Given the description of an element on the screen output the (x, y) to click on. 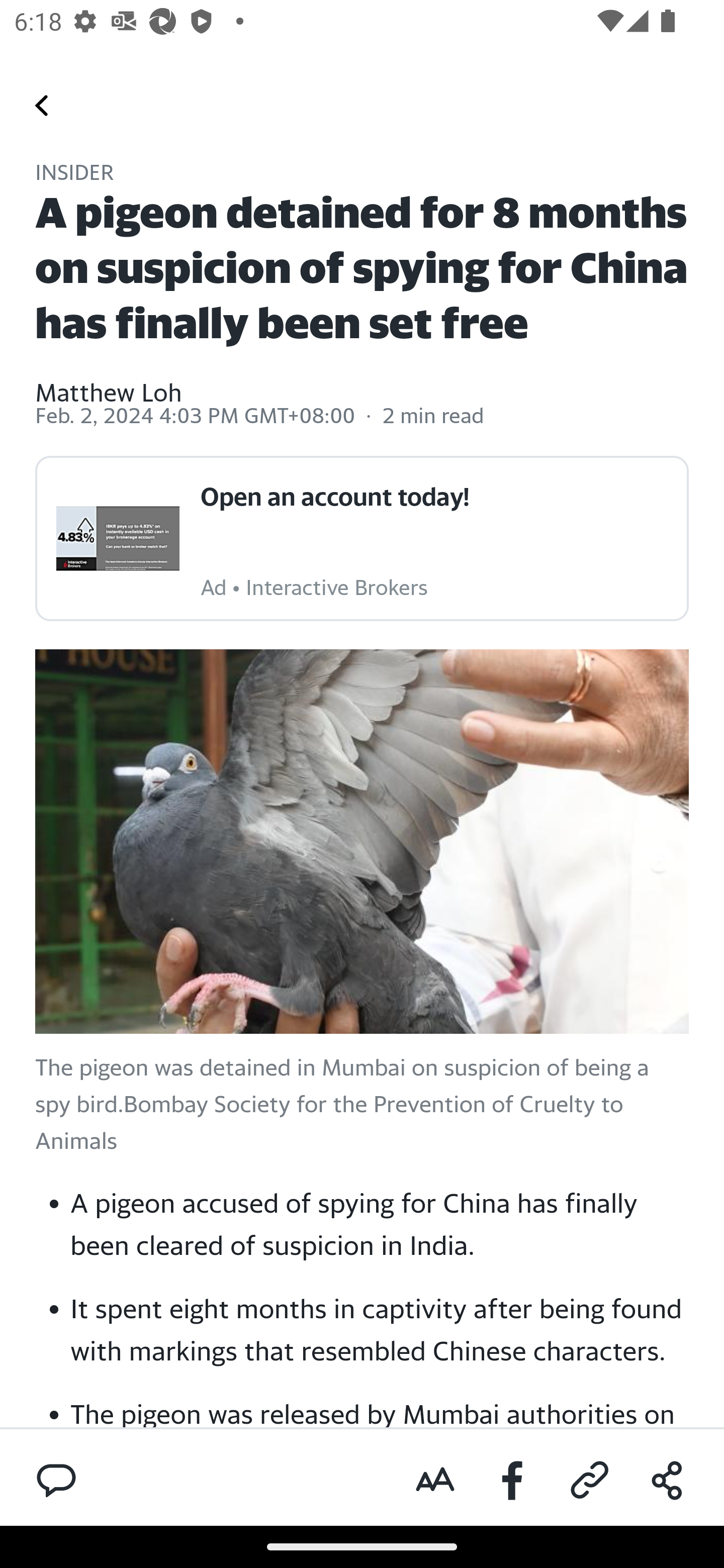
Back (41, 104)
INSIDER (75, 174)
Matthew Loh (108, 379)
View Comments (56, 1479)
Font size (435, 1480)
Share link on Facebook (512, 1480)
Copy link (590, 1480)
Share article (667, 1480)
